Given the description of an element on the screen output the (x, y) to click on. 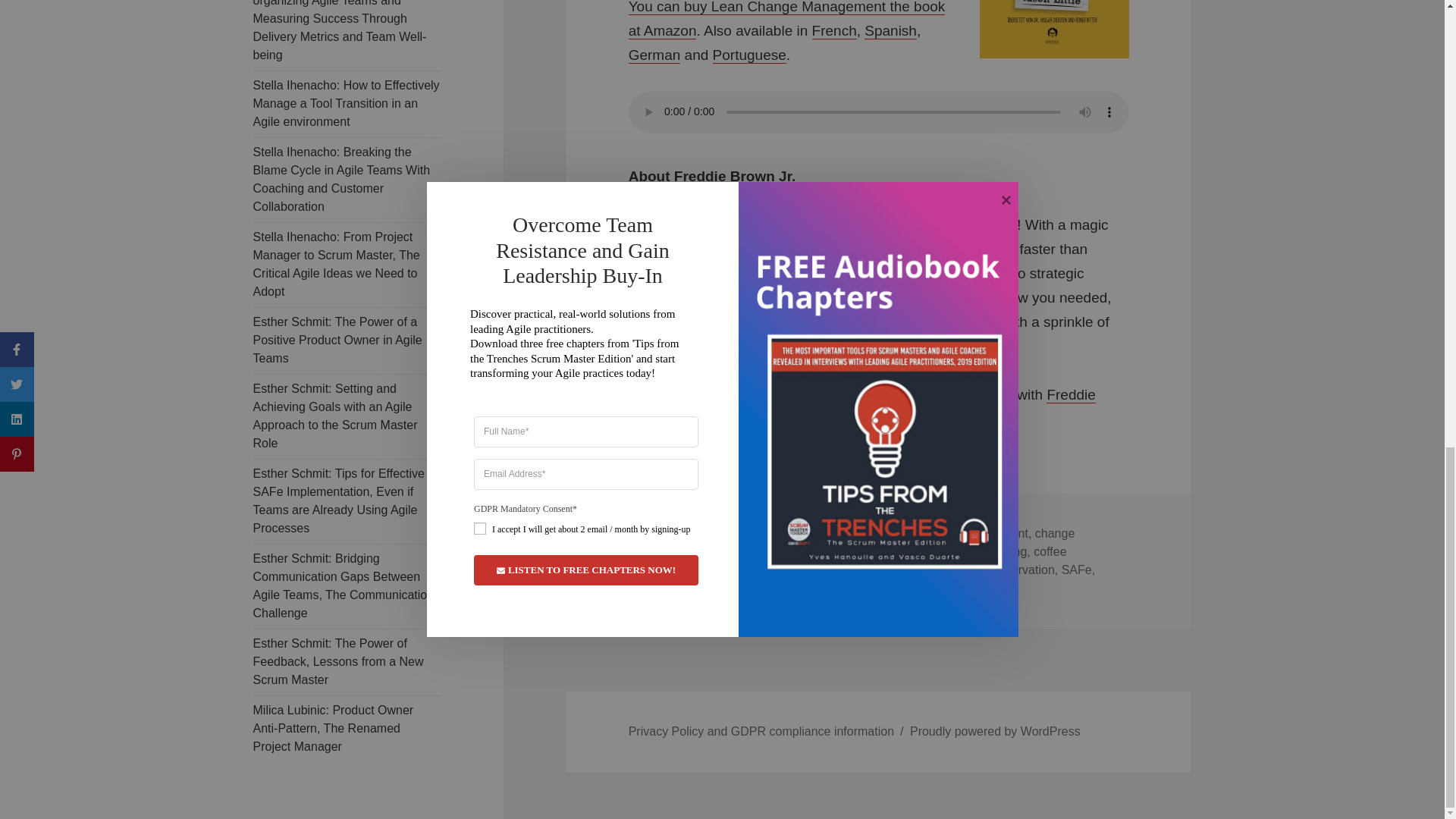
French (834, 30)
change (928, 533)
coaching (1002, 551)
You can buy Lean Change Management the book at Amazon (786, 19)
coffee conversation candidness (847, 561)
change leadership (851, 542)
Portuguese (749, 54)
Podcast (788, 533)
Freddie Brown Jr. on LinkedIn (834, 394)
